Given the description of an element on the screen output the (x, y) to click on. 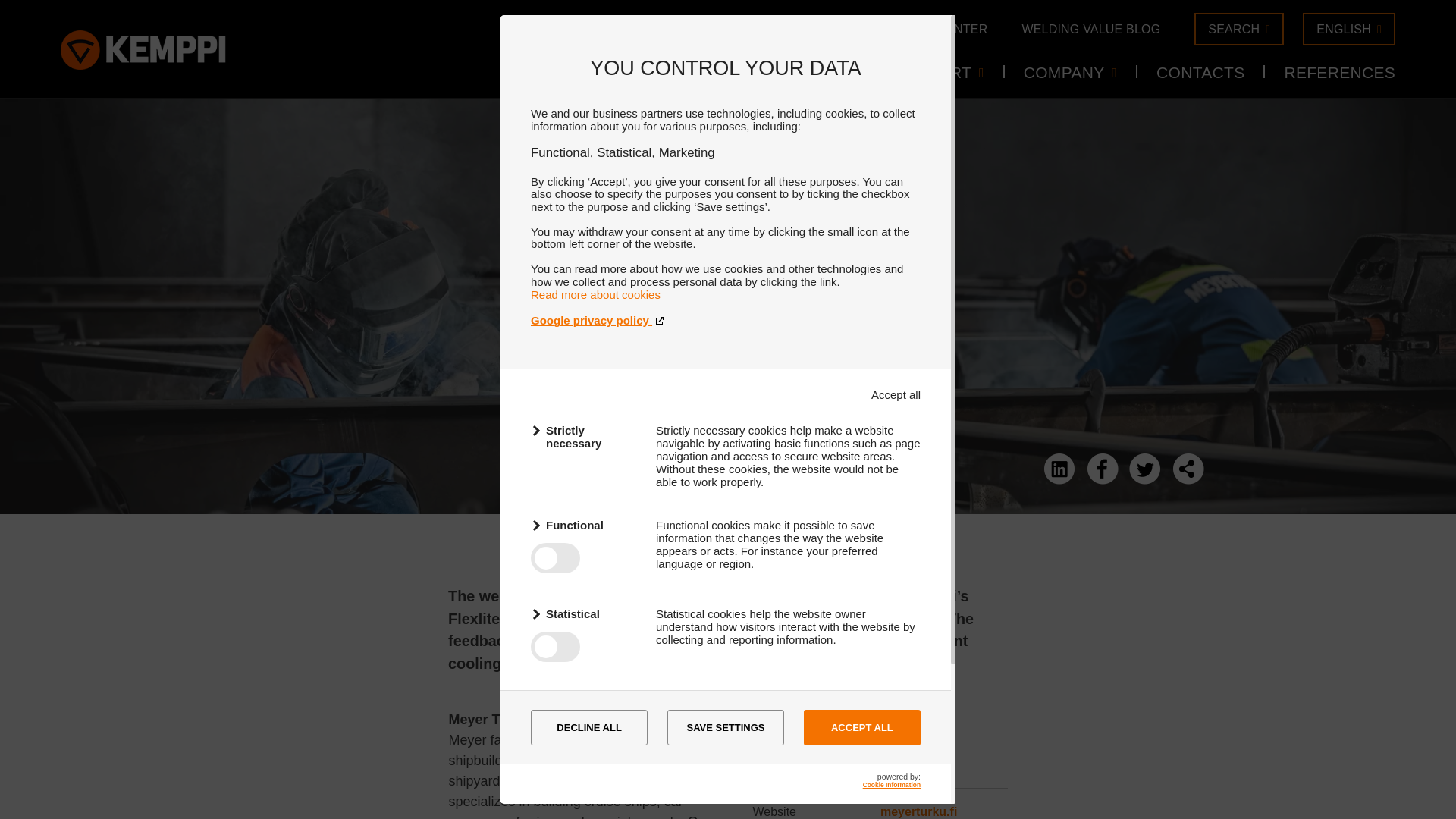
Functional (584, 525)
Accept all (895, 394)
Read more about cookies (596, 294)
Google privacy policy (725, 319)
Statistical (584, 613)
Strictly necessary (584, 436)
Marketing (584, 702)
